Given the description of an element on the screen output the (x, y) to click on. 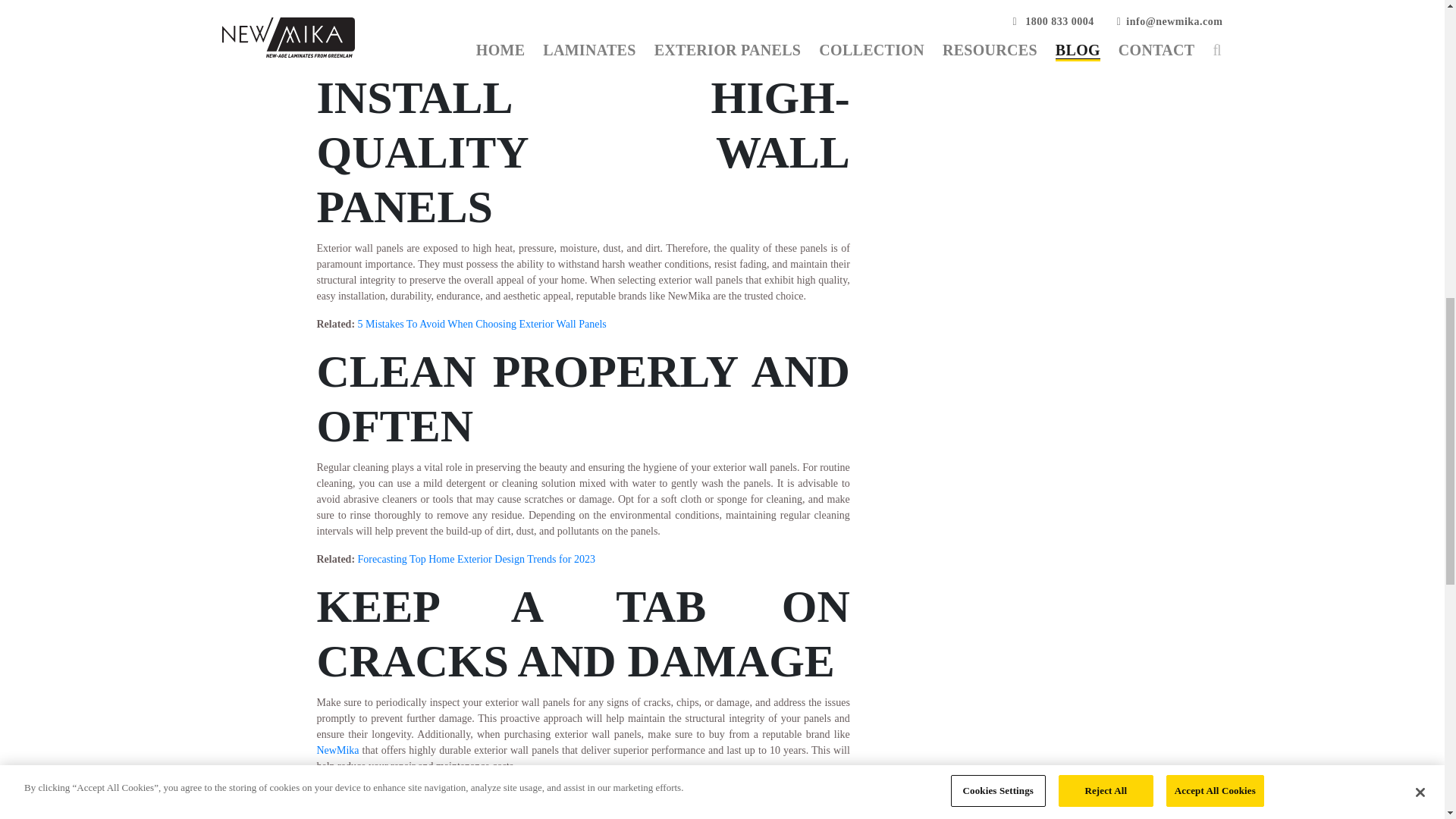
NewMika (338, 749)
5 Mistakes To Avoid When Choosing Exterior Wall Panels (482, 324)
Forecasting Top Home Exterior Design Trends for 2023 (476, 559)
